Given the description of an element on the screen output the (x, y) to click on. 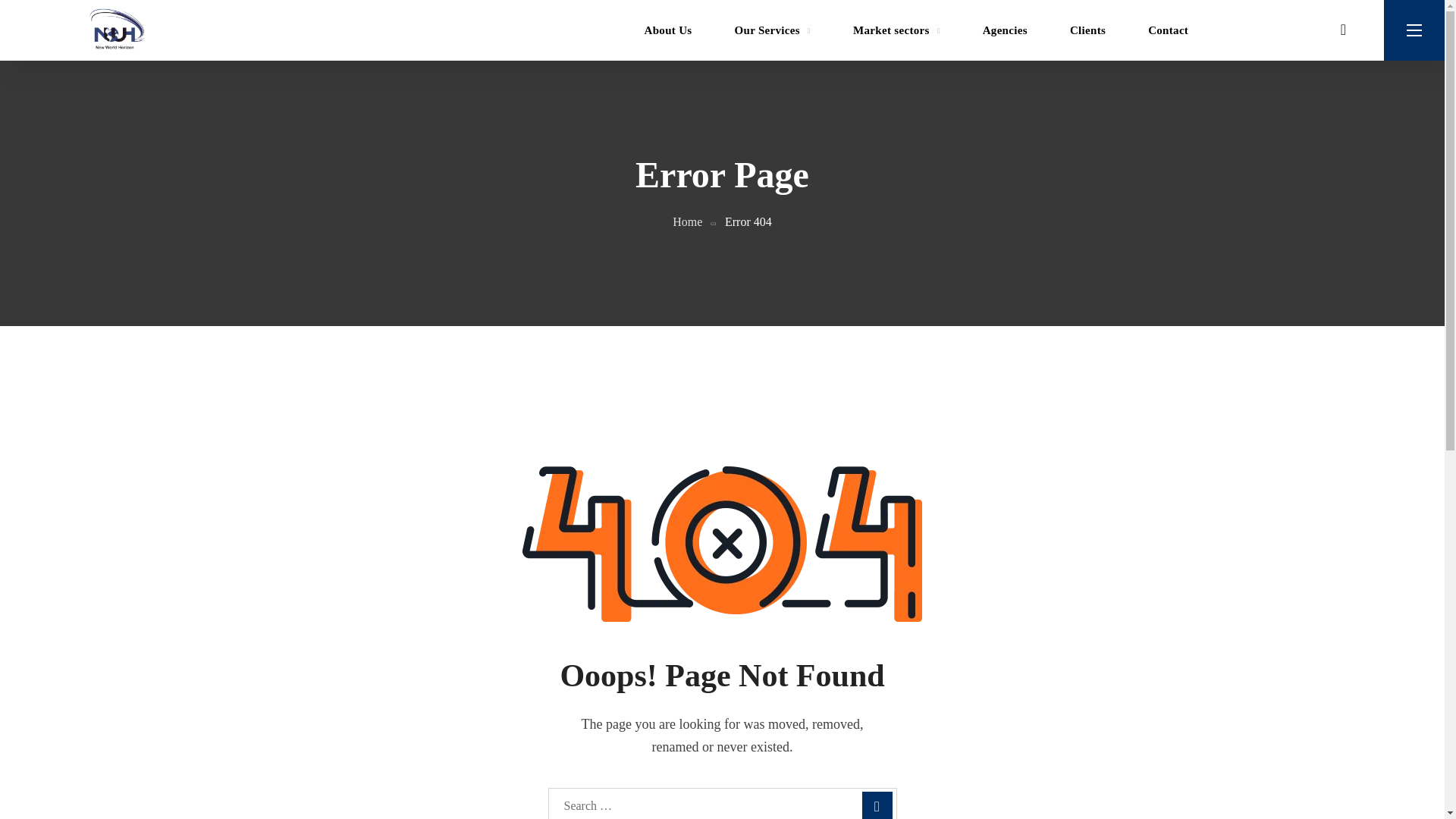
Market sectors (895, 30)
Contact (1167, 30)
About Us (668, 30)
Our Services (772, 30)
Search (1064, 441)
Clients (1087, 30)
Agencies (1004, 30)
